Given the description of an element on the screen output the (x, y) to click on. 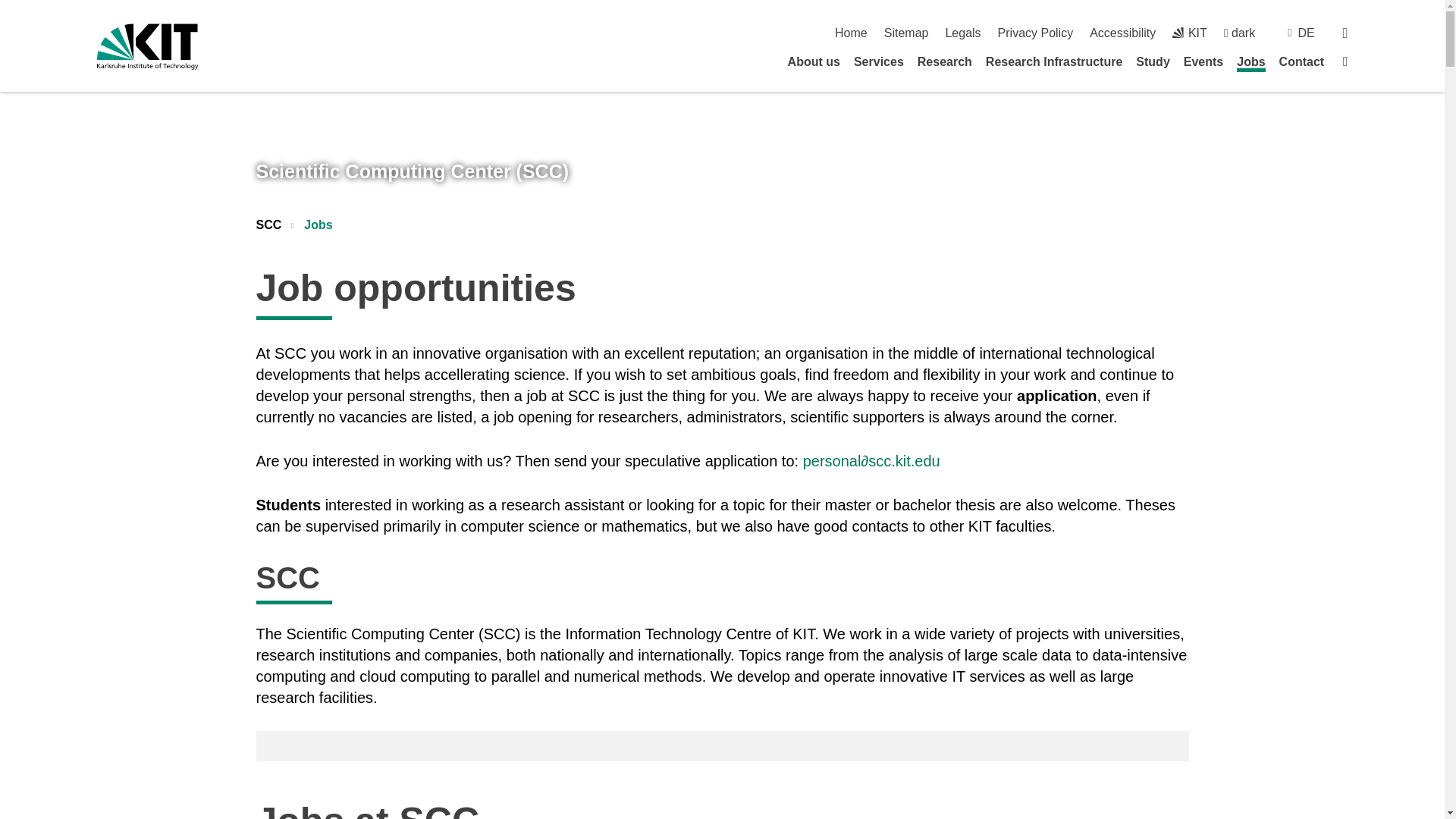
KIT (1189, 32)
Privacy Policy (1035, 32)
DE (1305, 32)
Sitemap (905, 32)
Accessibility (1122, 32)
dark (1239, 32)
About us (813, 61)
KIT-Homepage (1189, 32)
startpage (850, 32)
Legals (961, 32)
